Given the description of an element on the screen output the (x, y) to click on. 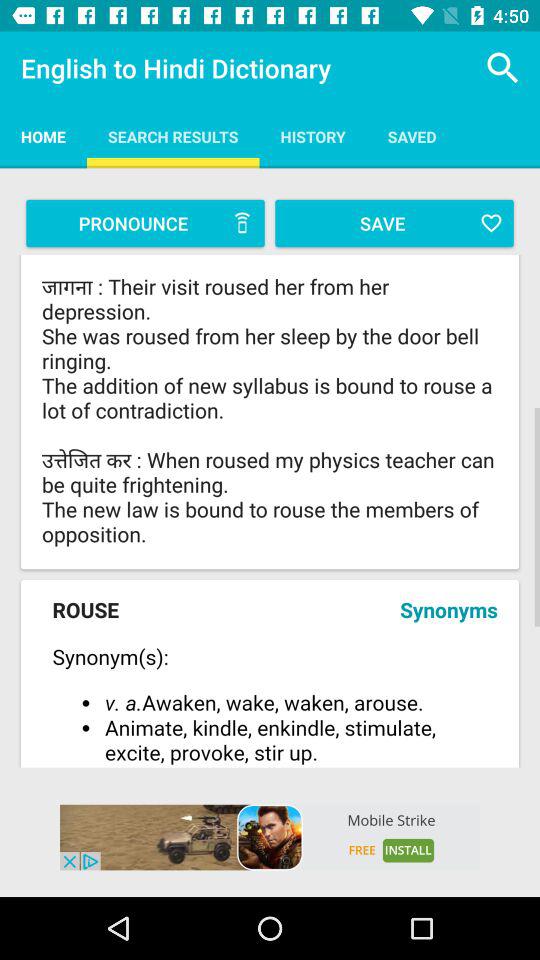
advertisement (270, 837)
